Given the description of an element on the screen output the (x, y) to click on. 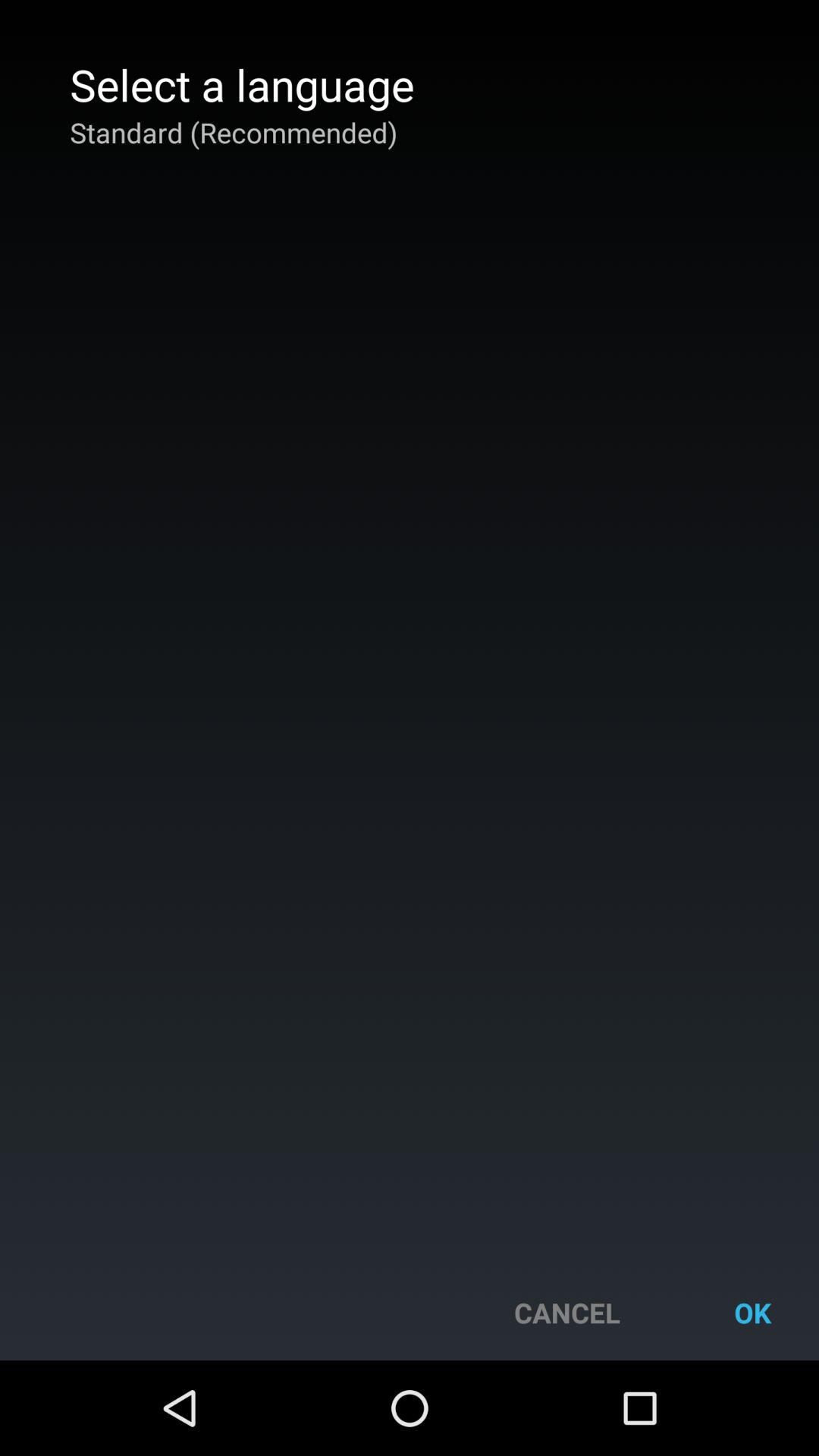
tap the icon to the right of cancel item (752, 1312)
